Given the description of an element on the screen output the (x, y) to click on. 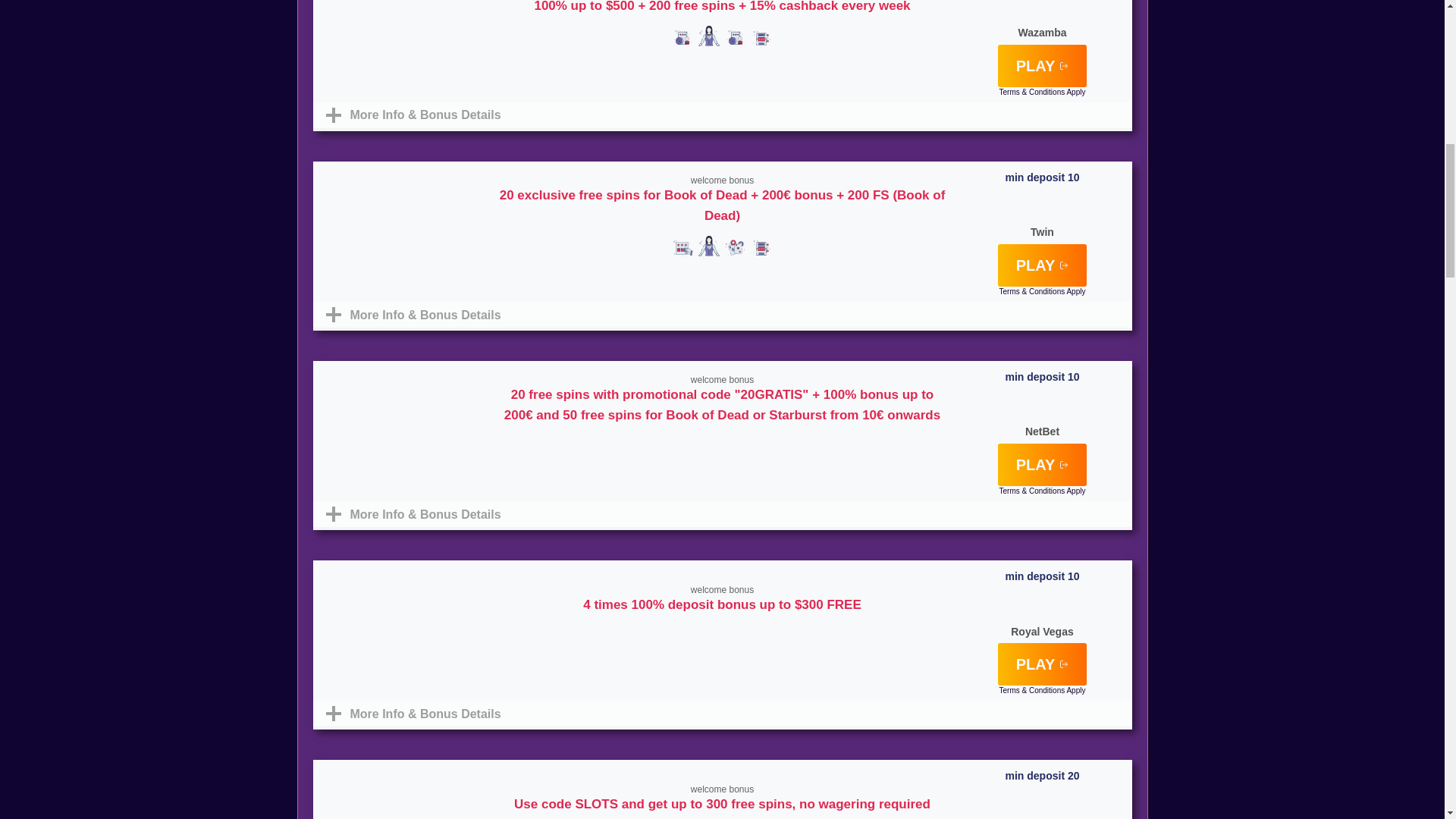
Live Casino (708, 445)
1001casino-casino (722, 635)
Fantasy Sports (734, 38)
Bingo (762, 445)
Lottery (682, 445)
Casino (762, 38)
Live Casino (708, 246)
Casino (734, 445)
Games (734, 247)
Casino (762, 247)
Scratchcards (682, 247)
Live Casino (708, 36)
Sports (682, 38)
